Given the description of an element on the screen output the (x, y) to click on. 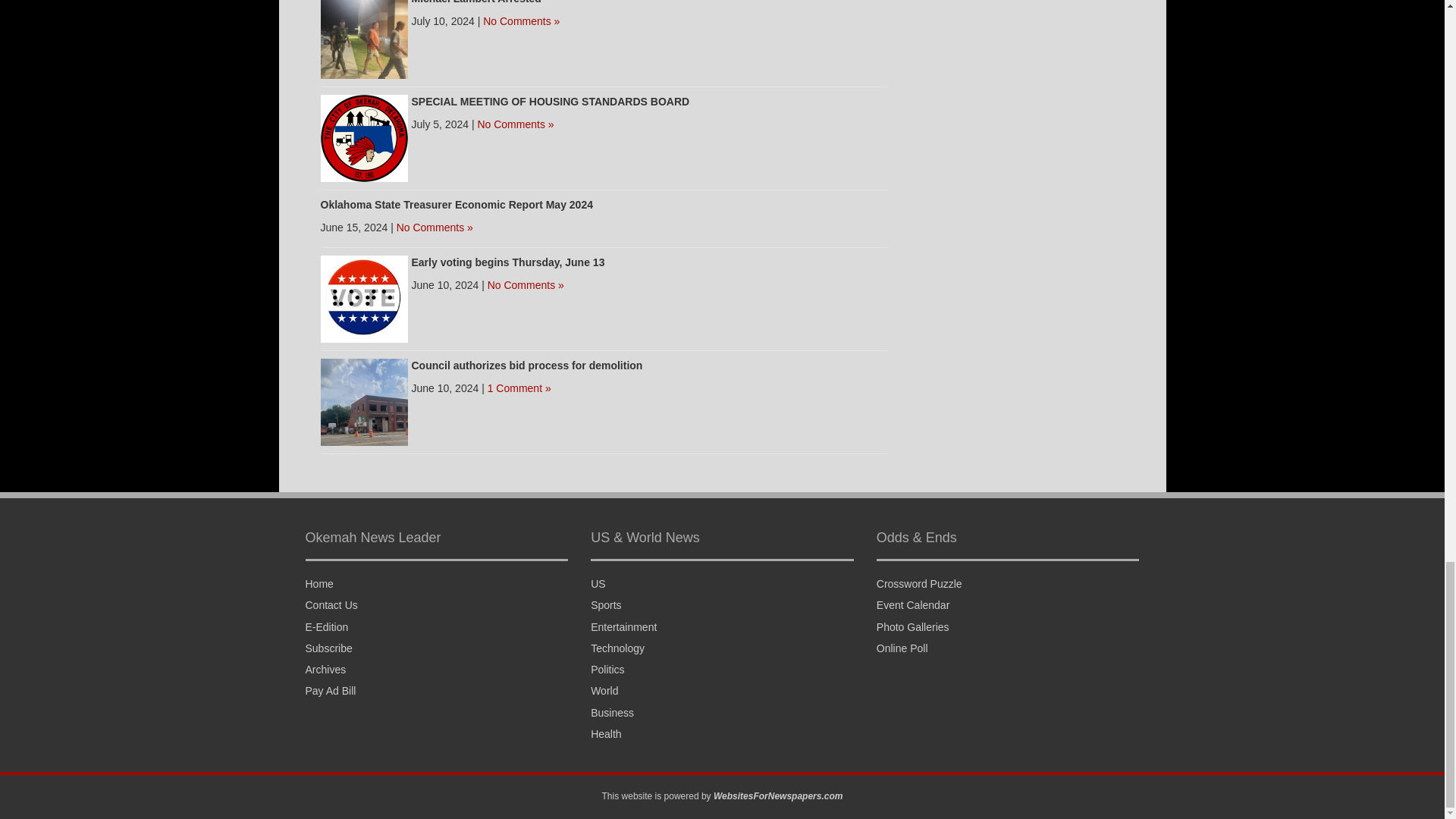
Oklahoma State Treasurer Economic Report May 2024 (456, 204)
Michael Lambert Arrested (475, 2)
SPECIAL MEETING OF HOUSING STANDARDS BOARD (549, 101)
Michael Lambert Arrested (363, 33)
SPECIAL MEETING OF HOUSING STANDARDS BOARD (363, 137)
Early voting begins Thursday, June 13 (507, 262)
Early voting begins Thursday, June 13 (363, 297)
Council authorizes bid process for demolition (363, 400)
Council authorizes bid process for demolition (526, 365)
